Given the description of an element on the screen output the (x, y) to click on. 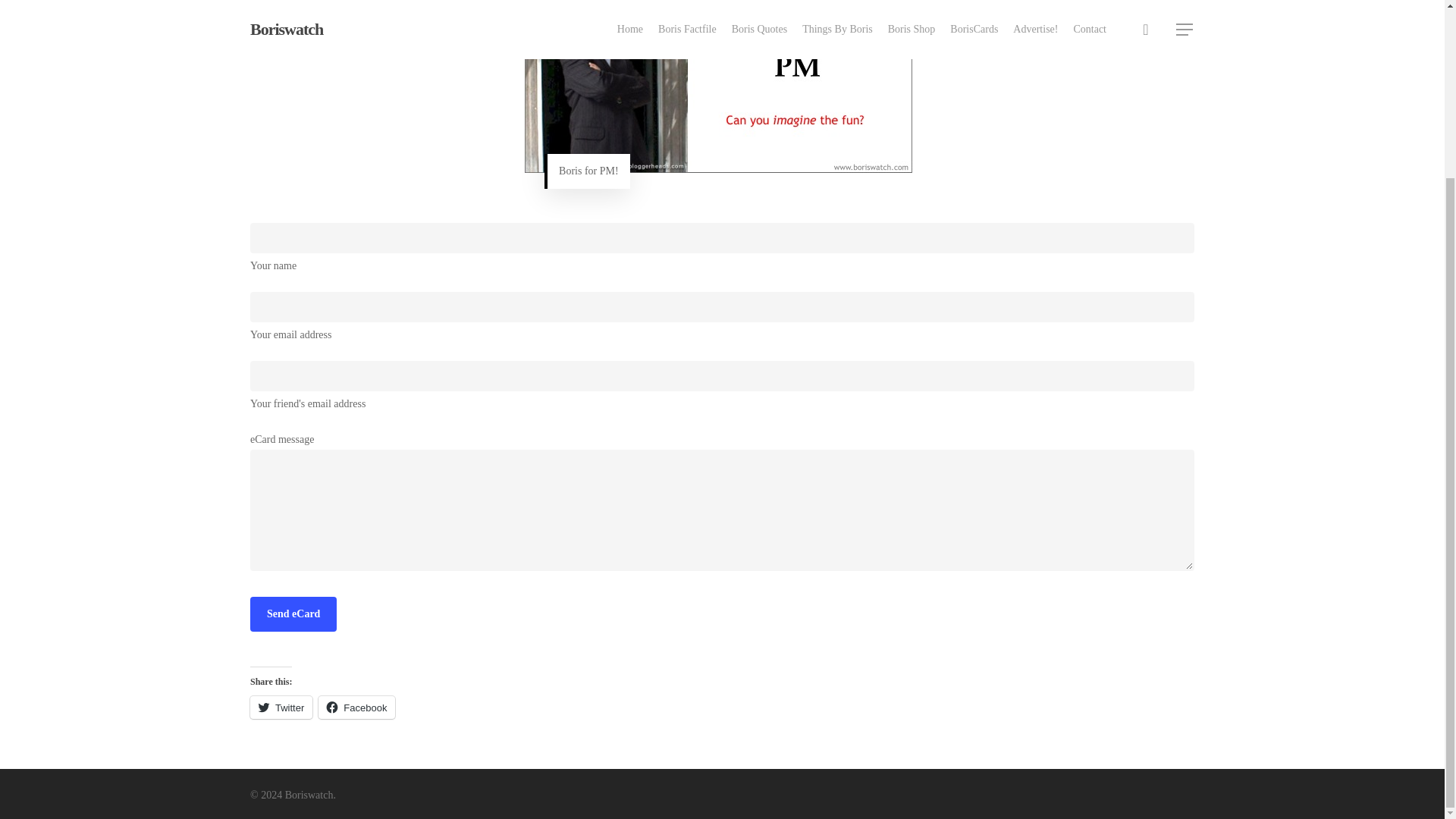
Facebook (356, 707)
Twitter (281, 707)
Click to share on Twitter (281, 707)
eCard - Boris for PM (718, 86)
Click to share on Facebook (356, 707)
Send eCard (293, 614)
Send eCard (293, 614)
